Given the description of an element on the screen output the (x, y) to click on. 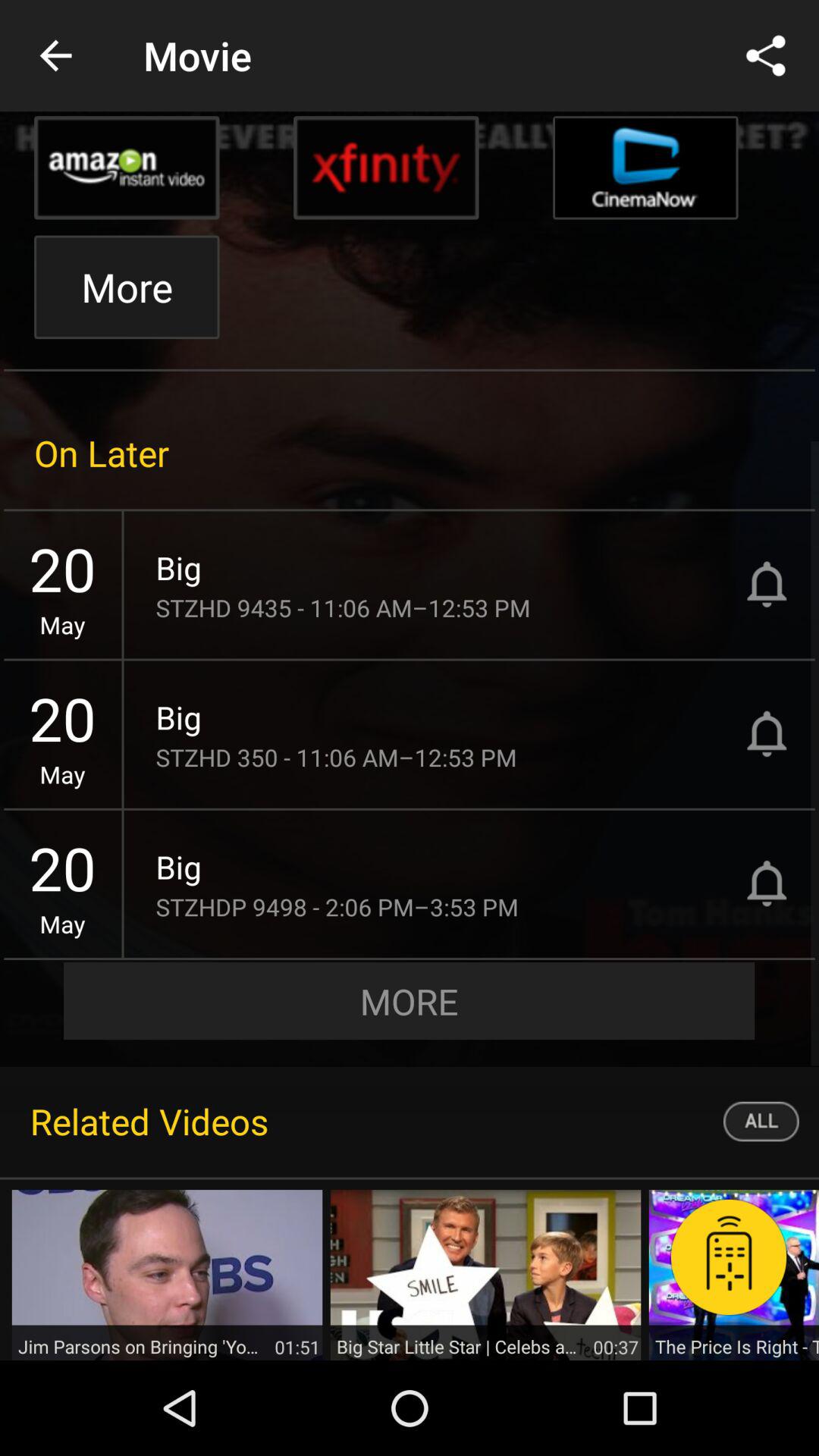
open the item to the left of movie icon (55, 55)
